Given the description of an element on the screen output the (x, y) to click on. 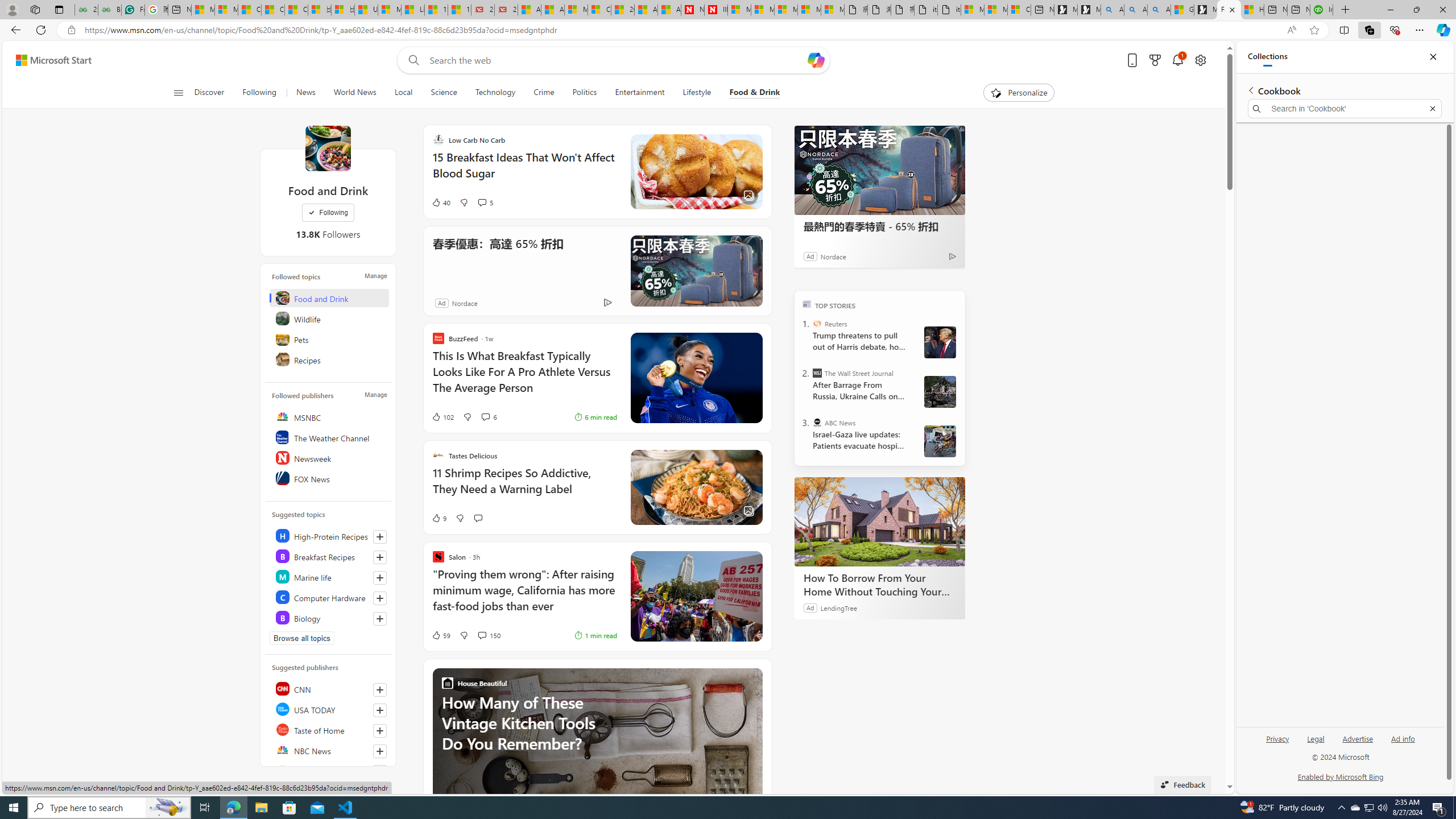
Reuters (328, 770)
TOP (806, 302)
Food and Drink (328, 298)
Taste of Home (328, 729)
Recipes (328, 359)
Food and Drink (327, 148)
